Given the description of an element on the screen output the (x, y) to click on. 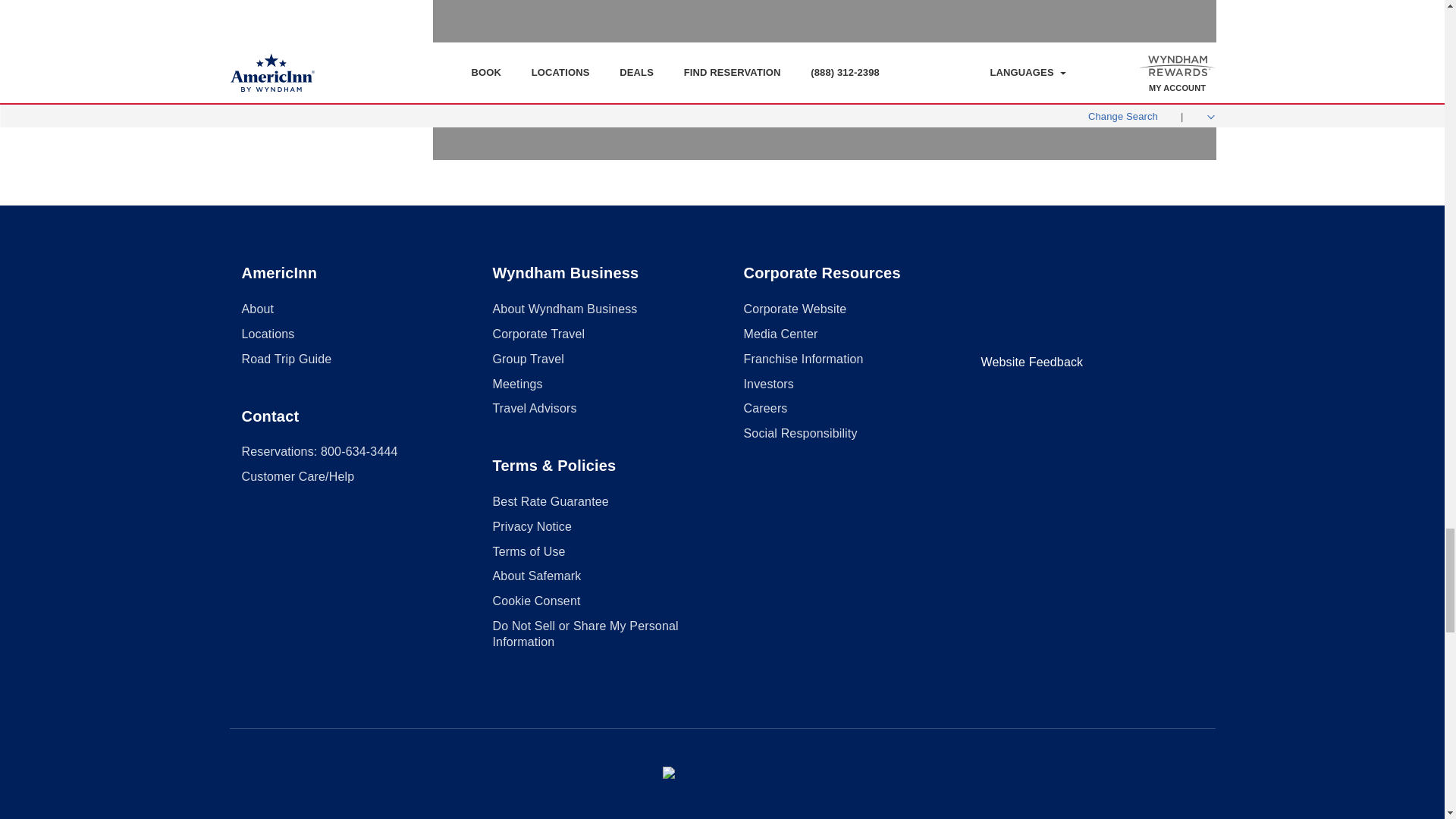
Wyndham Rewards (722, 774)
